Given the description of an element on the screen output the (x, y) to click on. 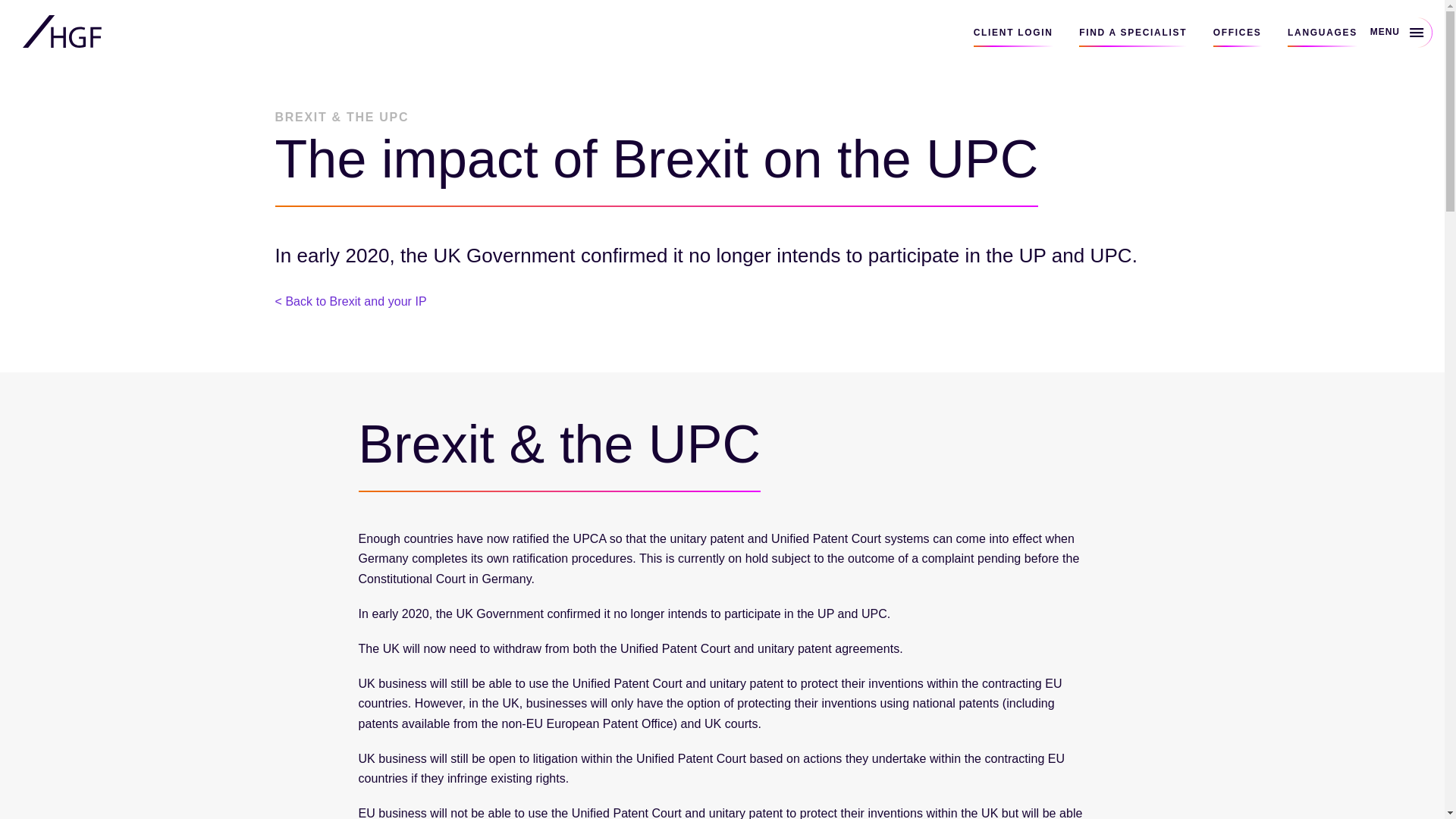
FIND A SPECIALIST (1132, 36)
CLIENT LOGIN (1013, 36)
LANGUAGES (1321, 36)
MENU (1403, 31)
OFFICES (1237, 36)
HGF (62, 31)
